Given the description of an element on the screen output the (x, y) to click on. 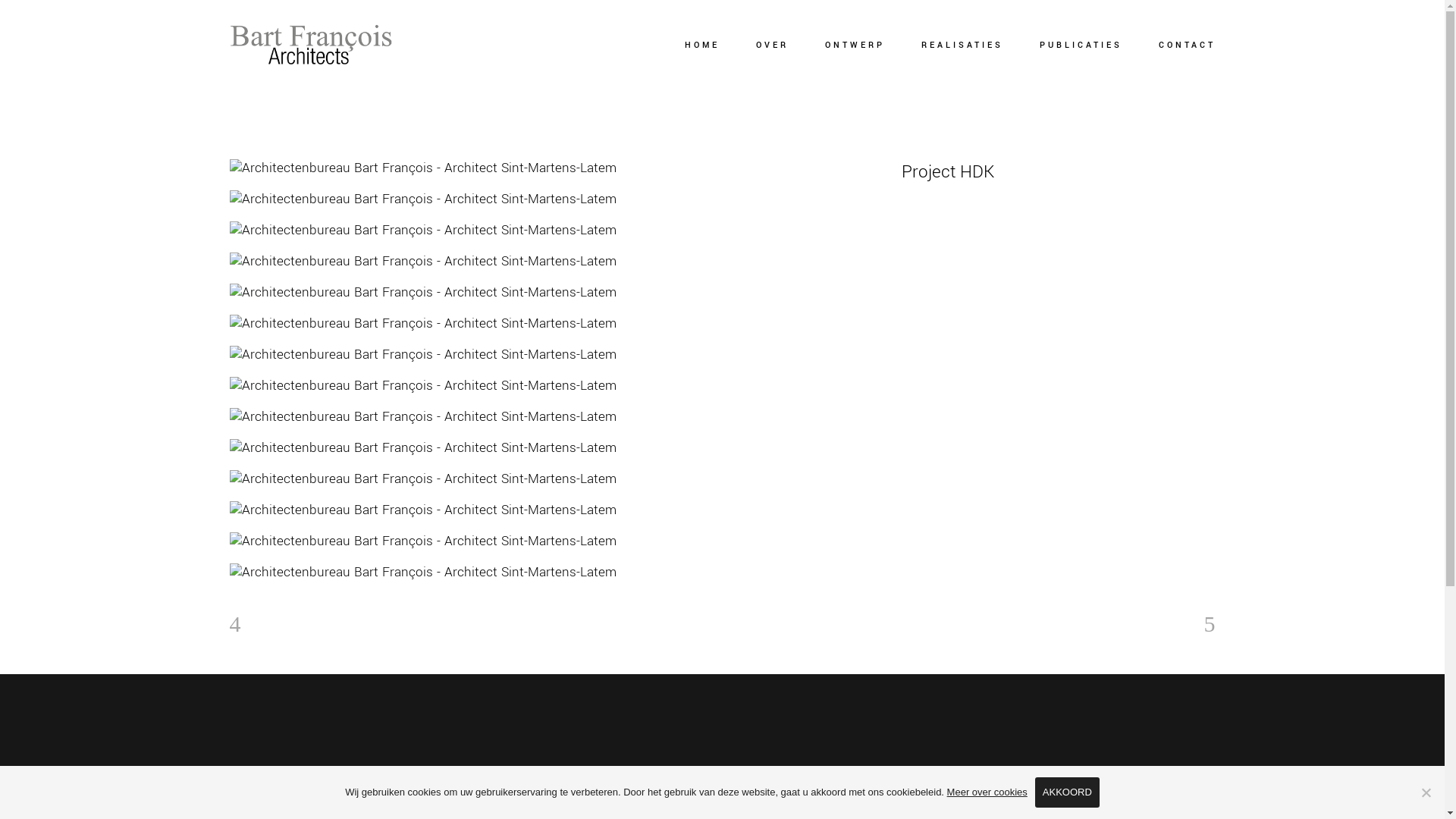
CONTACT Element type: text (1177, 45)
ONTWERP Element type: text (854, 45)
HOME Element type: text (701, 45)
No Element type: hover (1425, 792)
REALISATIES Element type: text (961, 45)
PUBLICATIES Element type: text (1079, 45)
AKKOORD Element type: text (1067, 792)
Meer over cookies Element type: text (987, 791)
OVER Element type: text (771, 45)
